Given the description of an element on the screen output the (x, y) to click on. 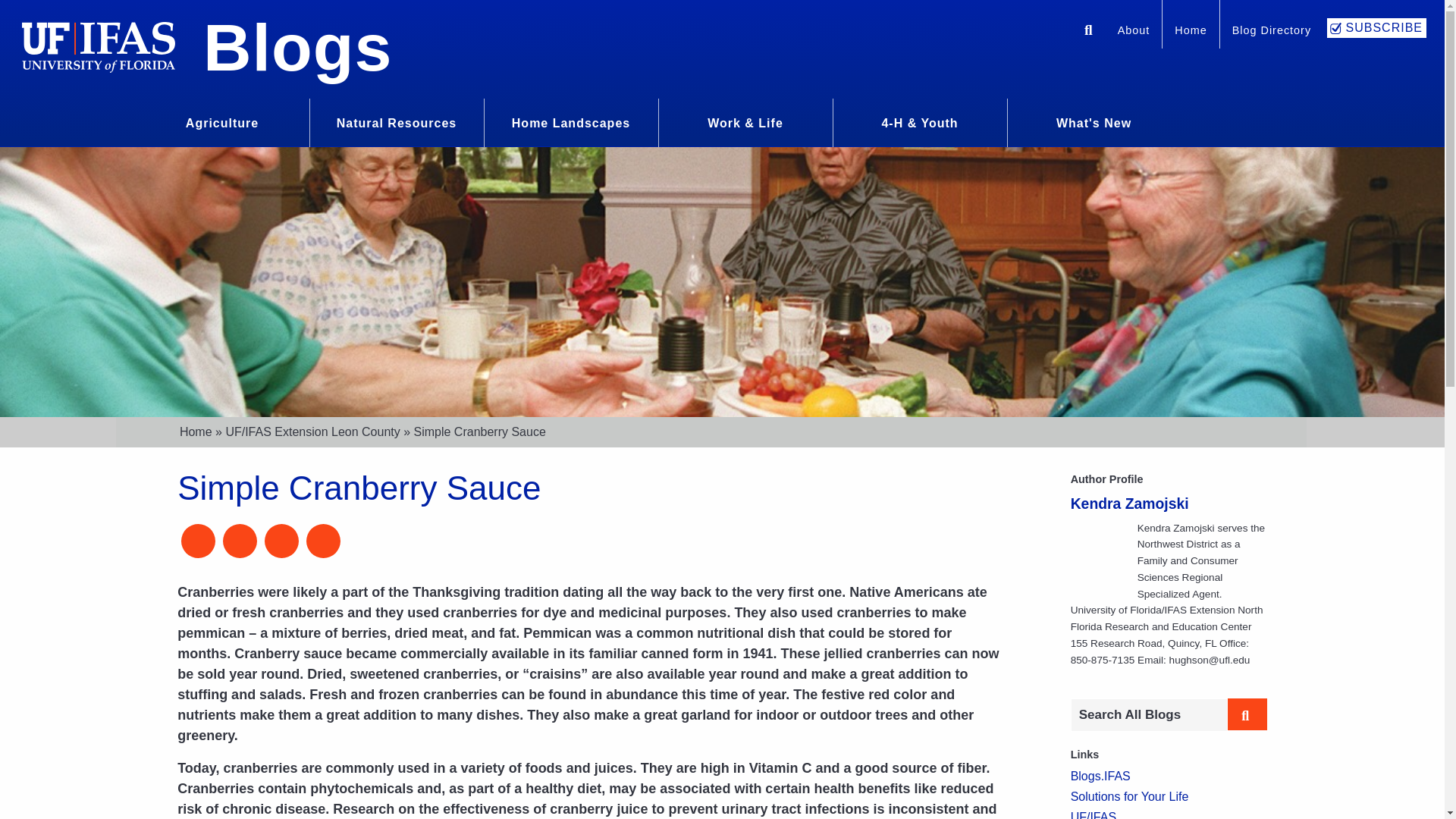
SUBSCRIBE (1376, 27)
Home (1189, 32)
Search All Blogs (1148, 715)
About (1133, 32)
Agriculture (221, 121)
Blog Directory (1271, 32)
Blogs (297, 47)
Home Landscapes (571, 121)
Natural Resources (396, 121)
